Given the description of an element on the screen output the (x, y) to click on. 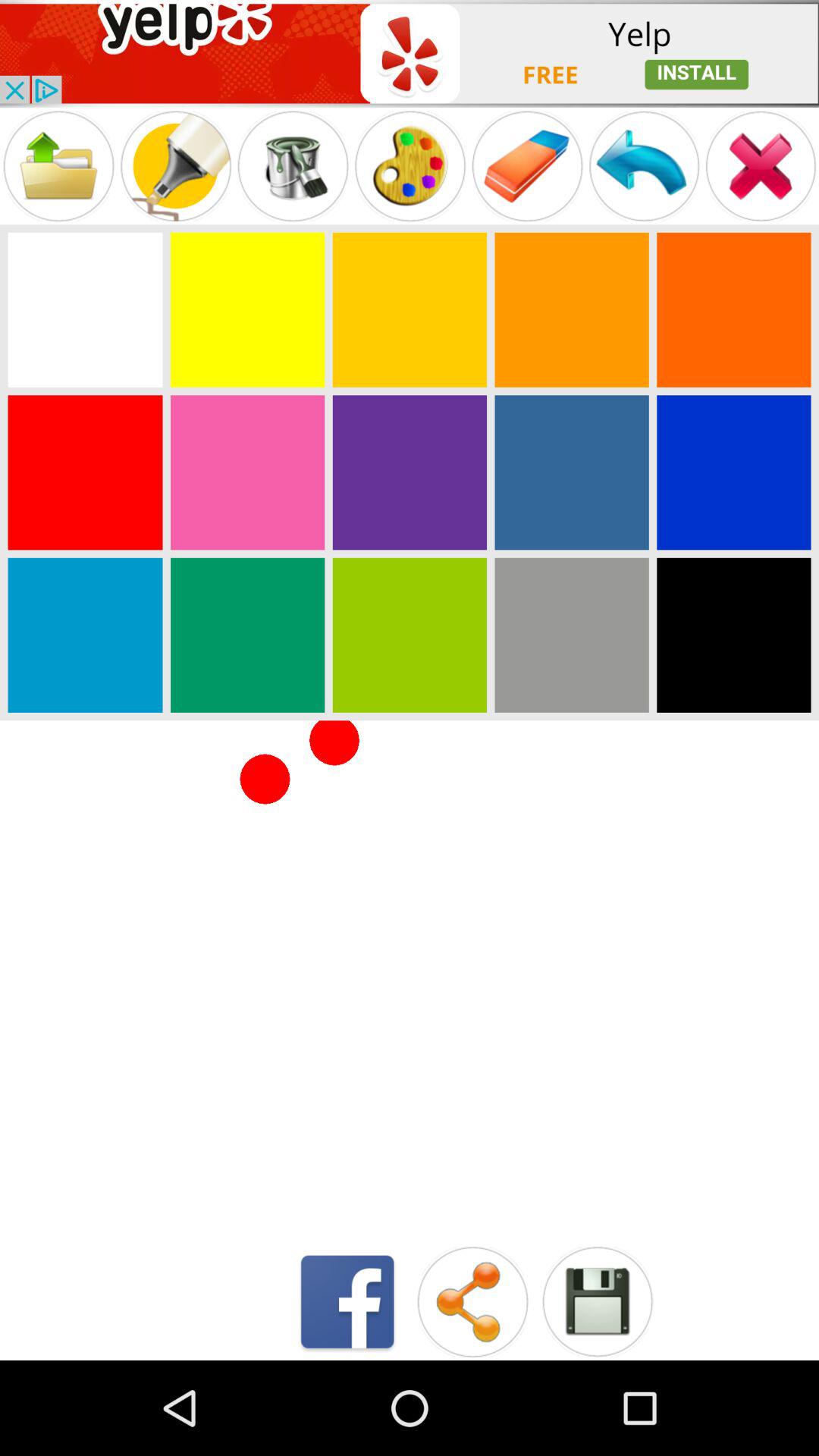
save to folder (58, 165)
